Given the description of an element on the screen output the (x, y) to click on. 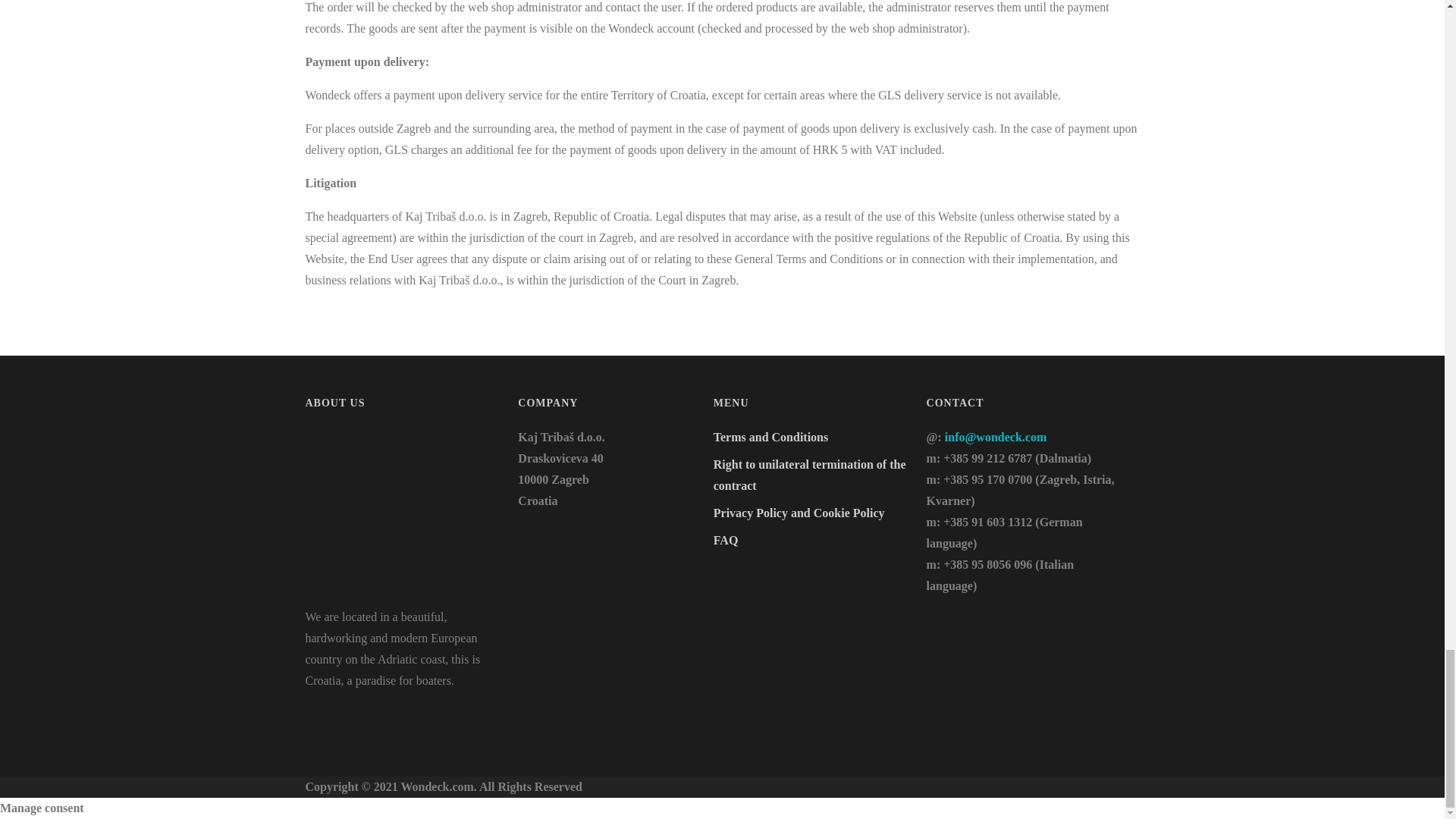
Privacy Policy and Cookie Policy (799, 512)
FAQ (725, 540)
Right to unilateral termination of the contract (809, 474)
Terms and Conditions (770, 436)
